Given the description of an element on the screen output the (x, y) to click on. 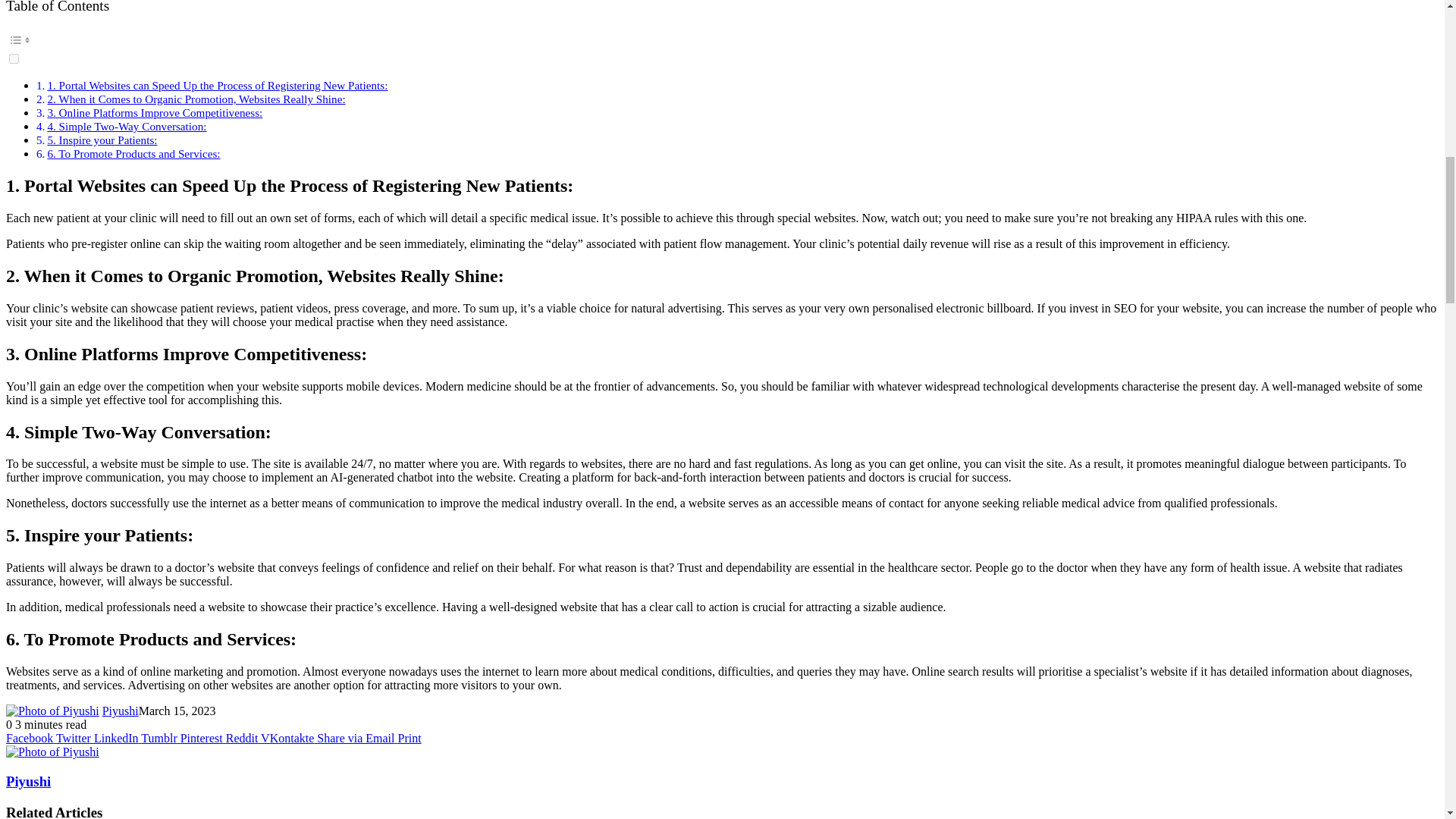
Tumblr (160, 738)
Twitter (75, 738)
4. Simple Two-Way Conversation: (126, 125)
3. Online Platforms Improve Competitiveness: (154, 112)
Facebook (30, 738)
Print (408, 738)
Piyushi (27, 781)
Reddit (242, 738)
LinkedIn (117, 738)
Pinterest (202, 738)
6. To Promote Products and Services: (132, 153)
Twitter (75, 738)
